Given the description of an element on the screen output the (x, y) to click on. 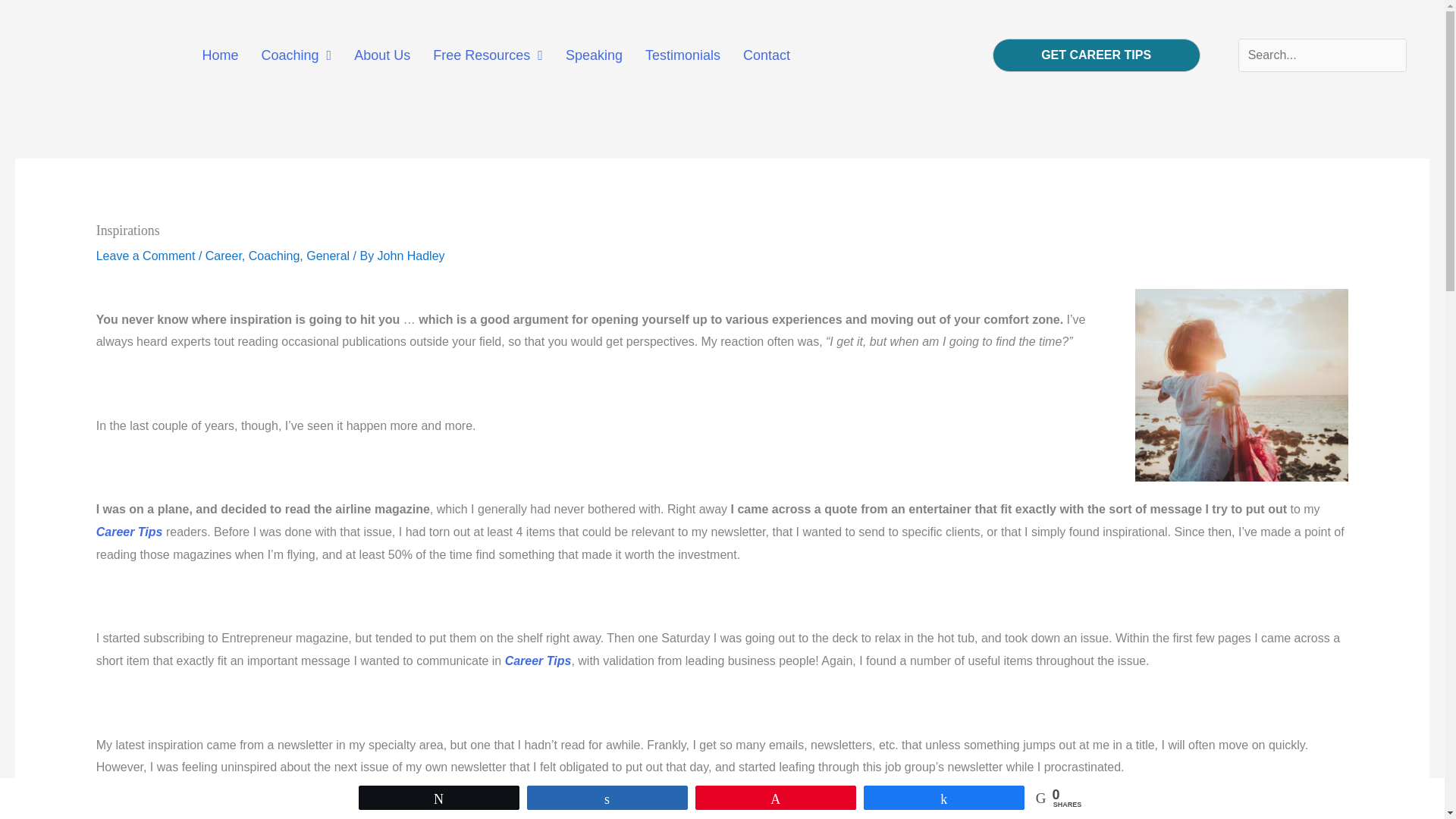
View all posts by John Hadley (411, 255)
Career Tips (538, 660)
Speaking (593, 54)
fuu j r2nJPbEYuSQ unsplash Spreading Arms To Sunrise (1241, 385)
Leave a Comment (145, 255)
Free Resources (487, 54)
GET CAREER TIPS (1095, 55)
Career Tips (129, 531)
General (327, 255)
Career (223, 255)
Testimonials (682, 54)
Home (220, 54)
John Hadley (411, 255)
Coaching (273, 255)
About Us (381, 54)
